Given the description of an element on the screen output the (x, y) to click on. 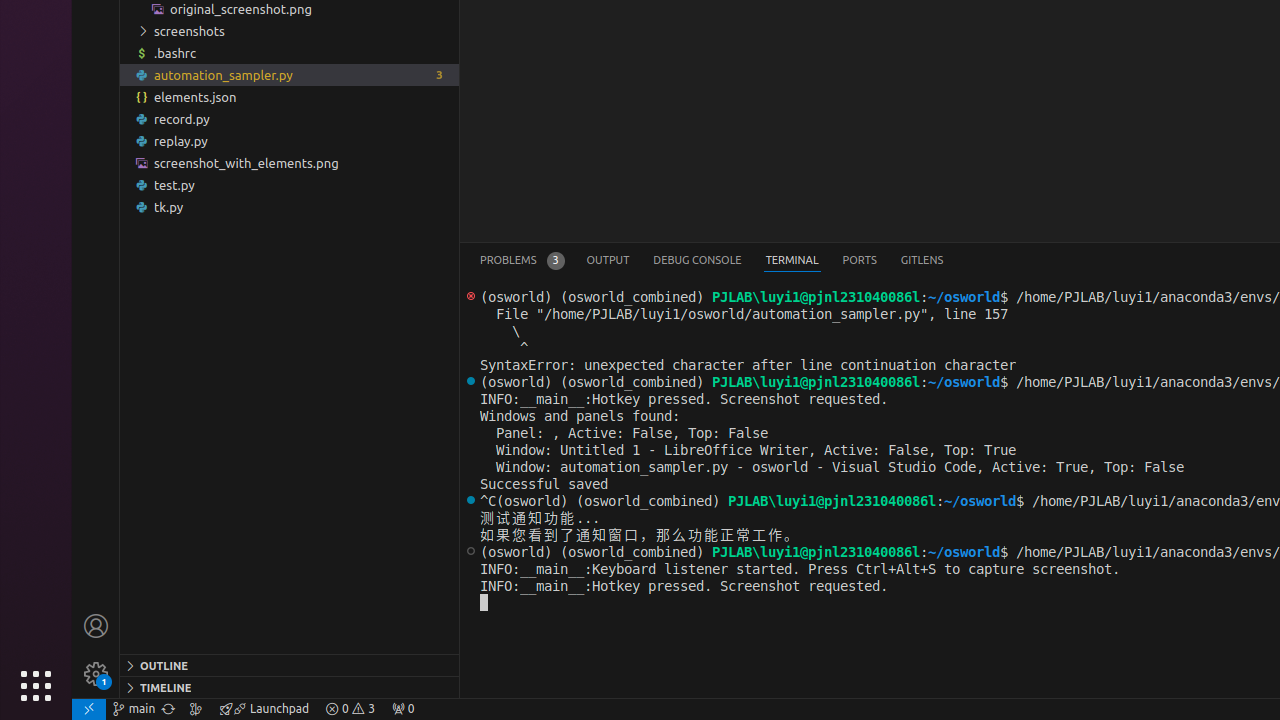
elements.json Element type: tree-item (289, 97)
Timeline Section Element type: push-button (289, 687)
tk.py Element type: tree-item (289, 206)
Terminal (Ctrl+`) Element type: page-tab (792, 260)
Problems (Ctrl+Shift+M) - Total 3 Problems Element type: page-tab (521, 260)
